Given the description of an element on the screen output the (x, y) to click on. 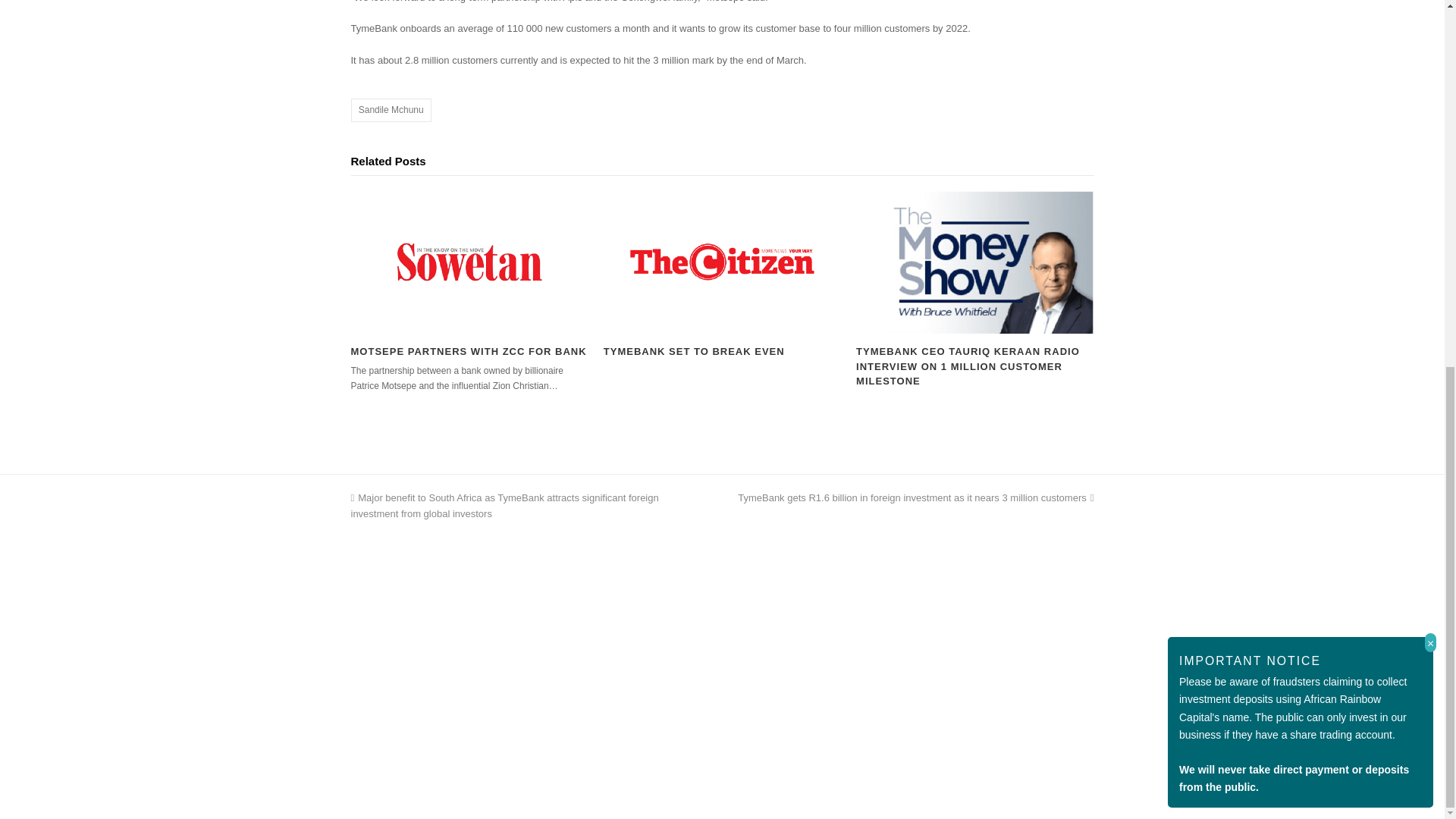
Sandile Mchunu (390, 110)
Motsepe partners with ZCC for bank (469, 261)
TymeBank set to break even (722, 261)
